Given the description of an element on the screen output the (x, y) to click on. 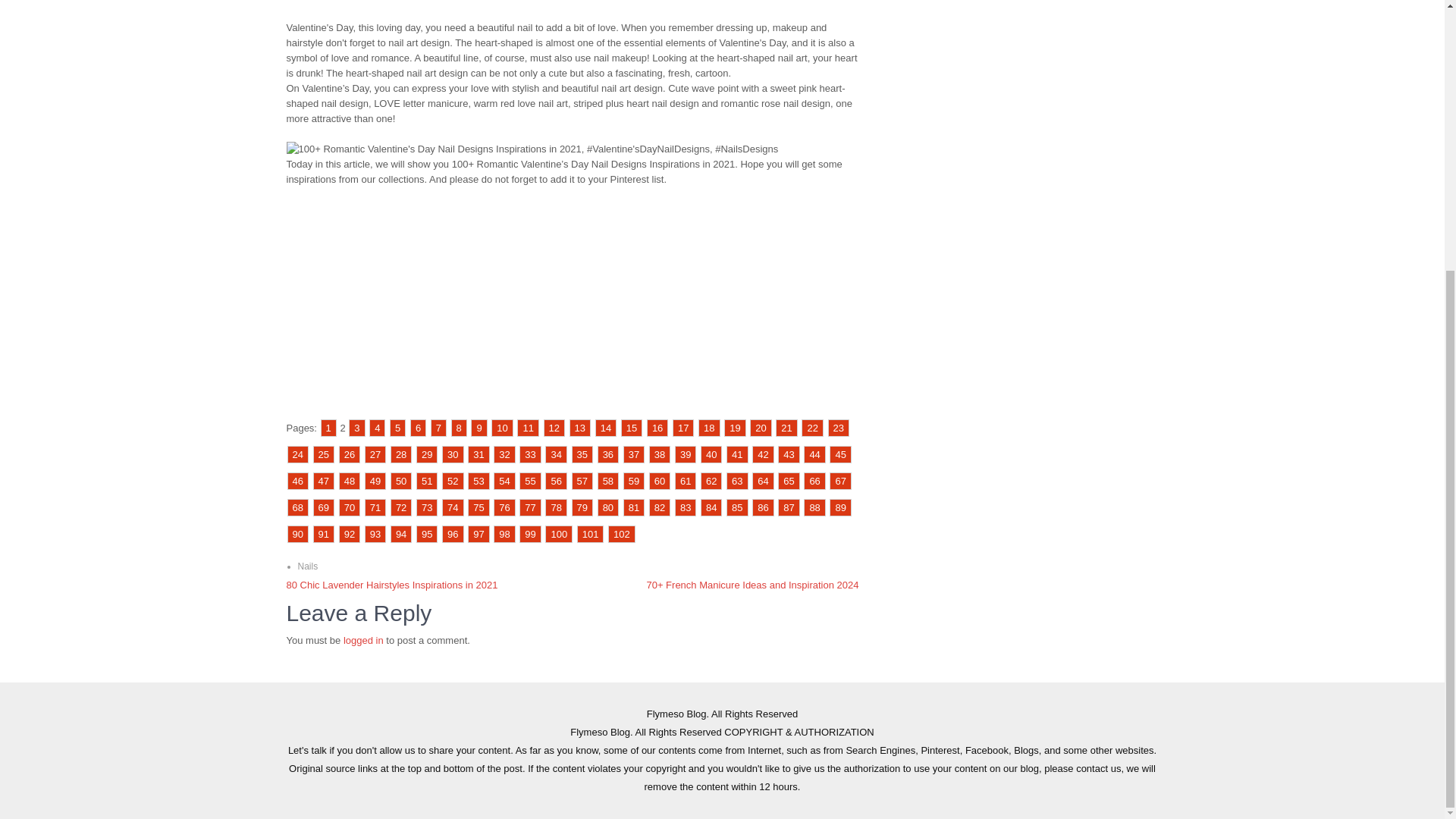
1 (328, 427)
30 (452, 454)
20 (760, 427)
26 (349, 454)
5 (398, 427)
4 (377, 427)
18 (708, 427)
32 (504, 454)
11 (527, 427)
28 (401, 454)
21 (786, 427)
7 (438, 427)
9 (478, 427)
8 (459, 427)
27 (375, 454)
